Given the description of an element on the screen output the (x, y) to click on. 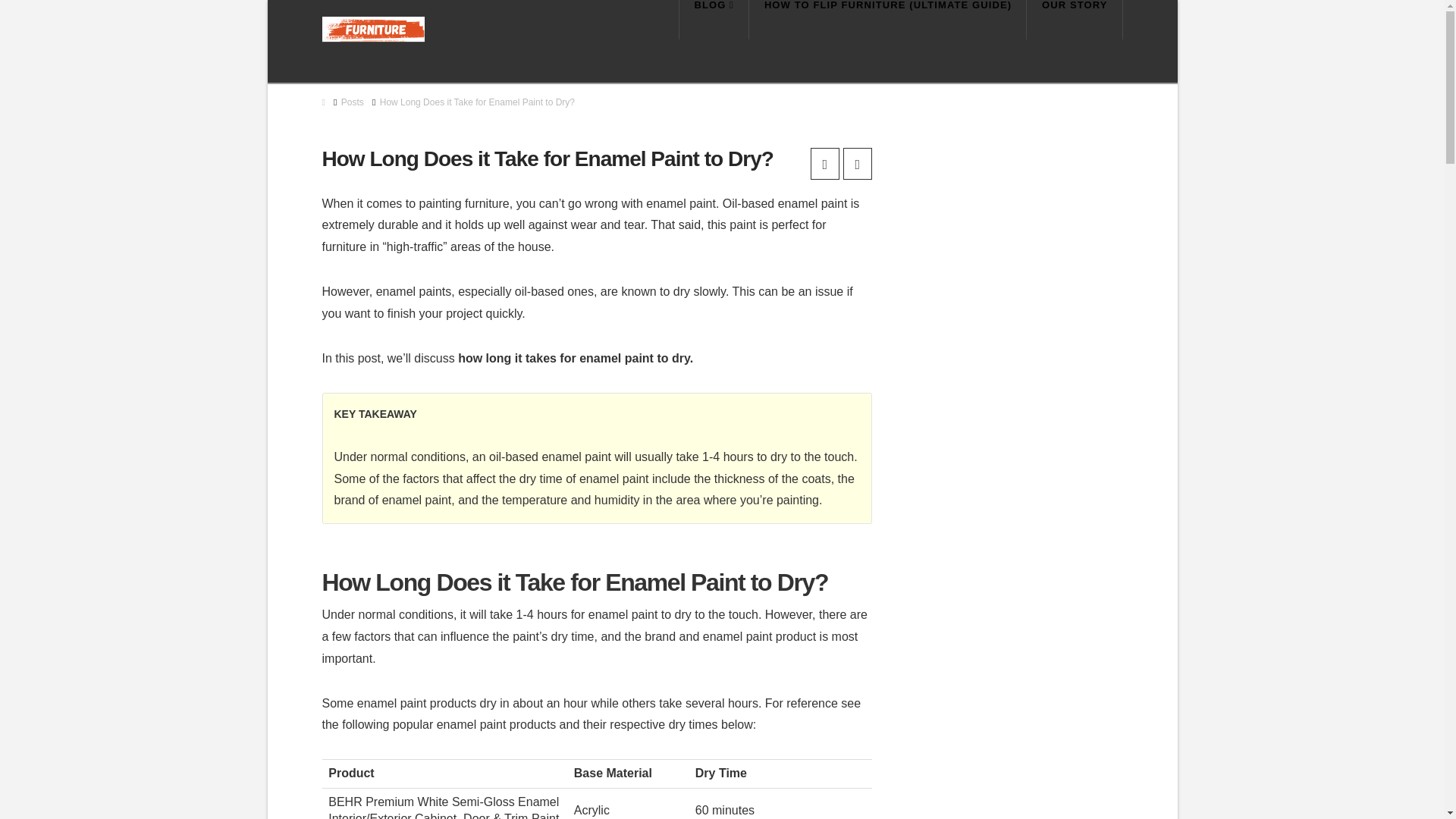
OUR STORY (1074, 19)
Posts (352, 102)
BLOG (713, 19)
You Are Here (477, 102)
How Long Does it Take for Enamel Paint to Dry? (477, 102)
